Given the description of an element on the screen output the (x, y) to click on. 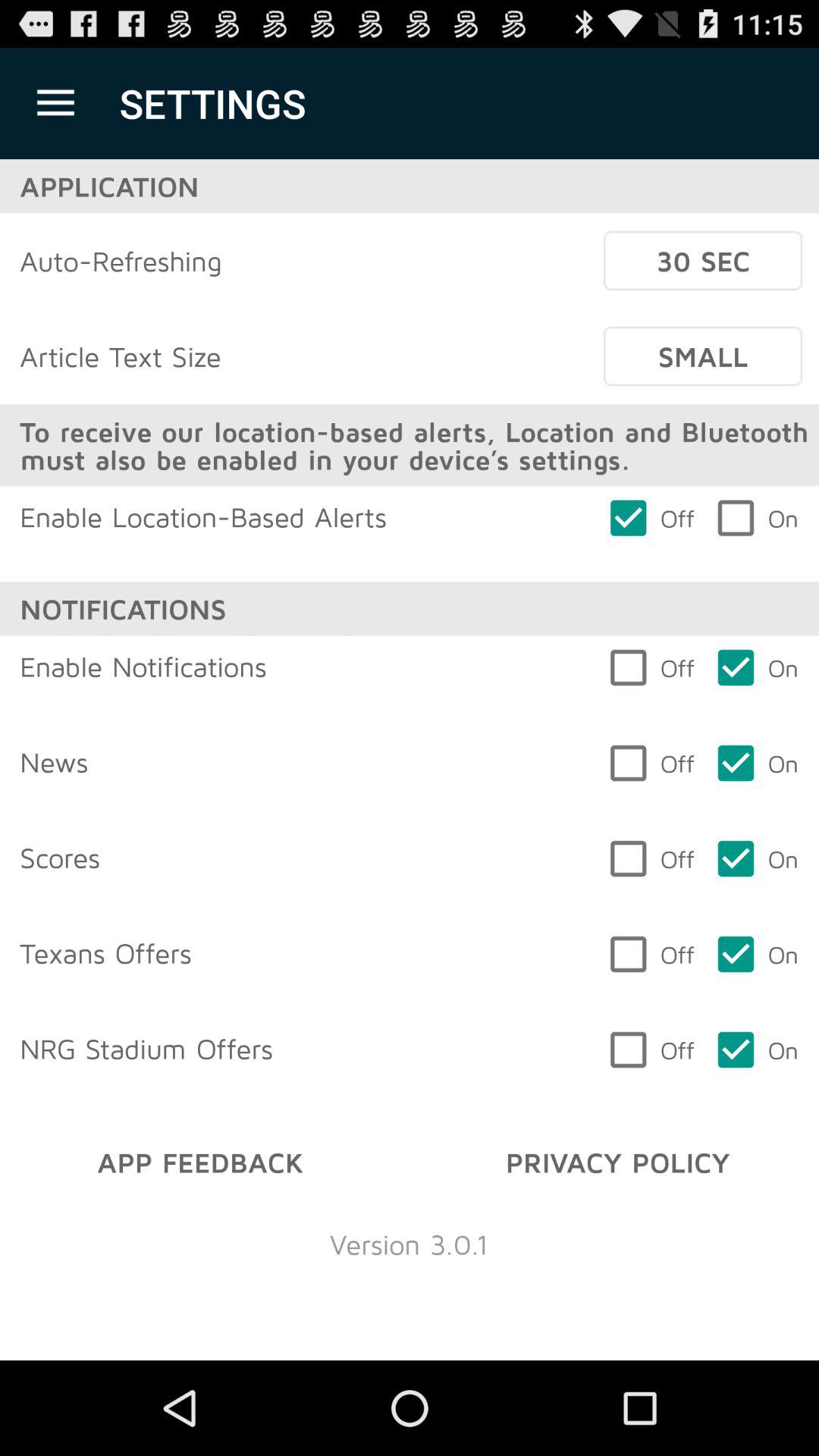
turn off the version 3 0 (408, 1243)
